Given the description of an element on the screen output the (x, y) to click on. 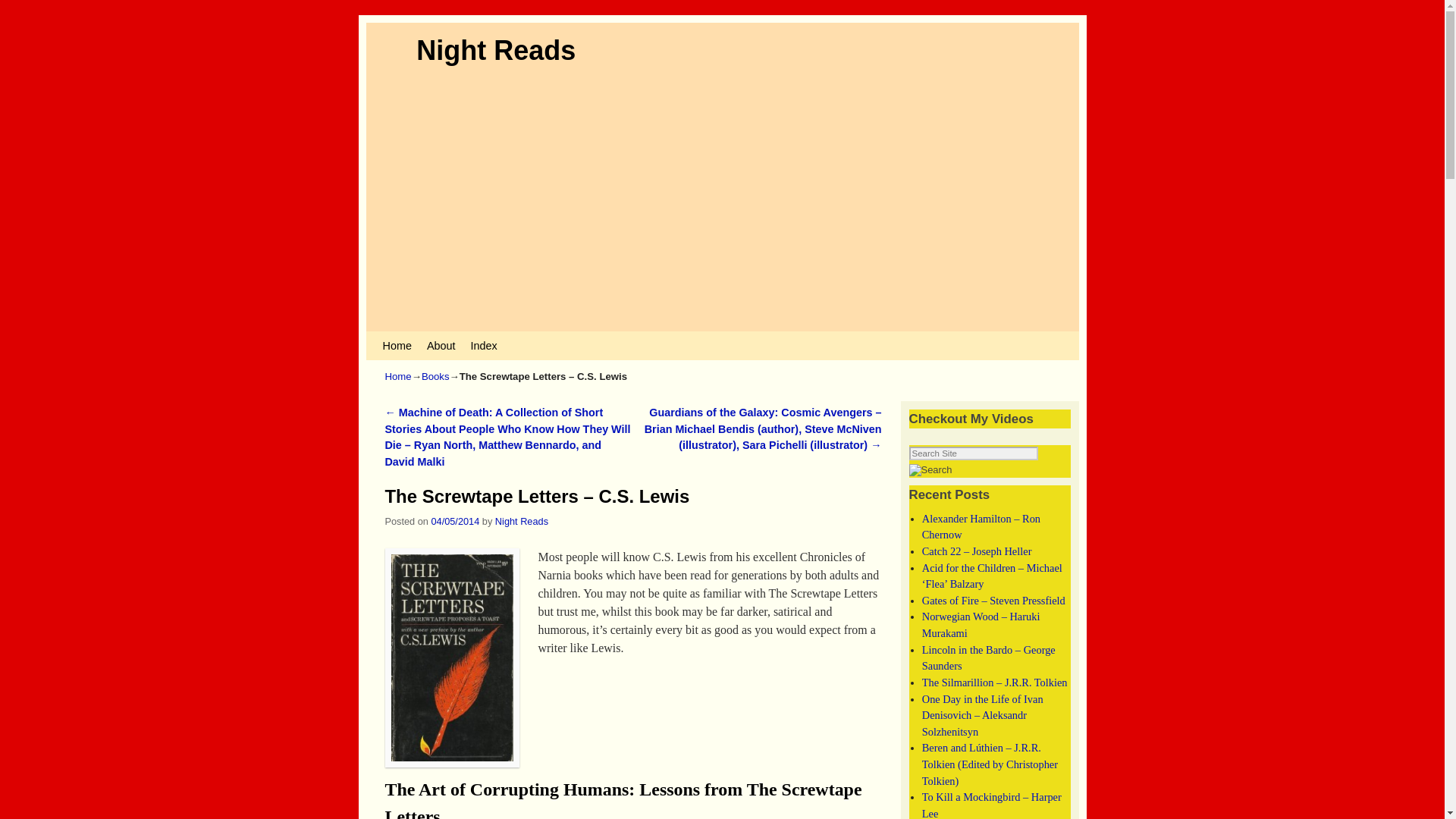
Index (483, 345)
Home (396, 345)
Home (398, 376)
Books (435, 376)
Night Reads (521, 521)
Night Reads (495, 50)
Skip to primary content (408, 337)
About (441, 345)
Night Reads (495, 50)
View all posts by Night Reads (521, 521)
Skip to secondary content (412, 337)
11:11 (454, 521)
